Given the description of an element on the screen output the (x, y) to click on. 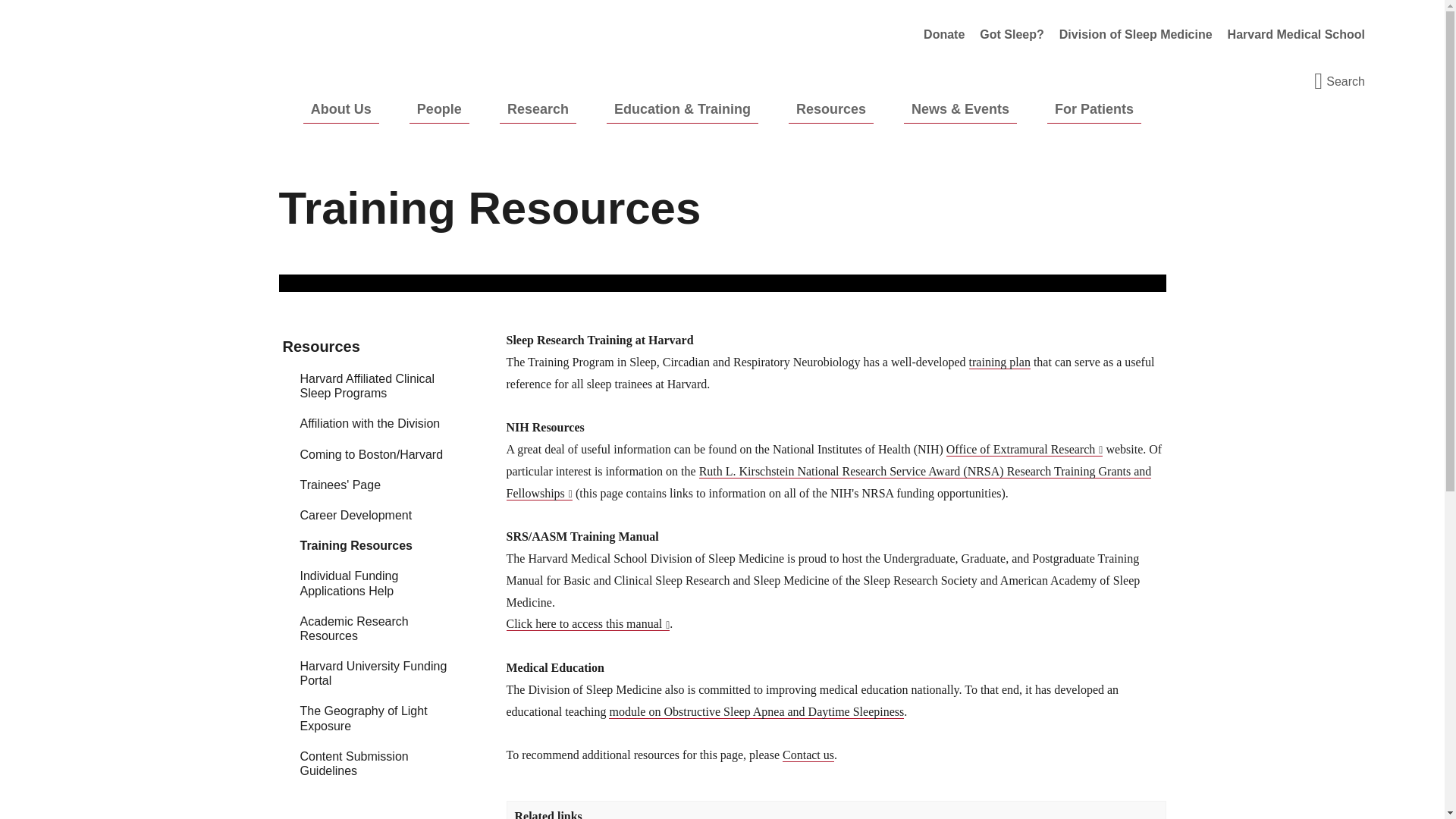
Contact Us (808, 755)
About Us (340, 109)
NRSA Research Training Grants and Fellowships (828, 482)
People (438, 109)
Donate (943, 34)
Sleep and Health Education Program (1011, 34)
Division of Sleep Medicine (1135, 34)
